Given the description of an element on the screen output the (x, y) to click on. 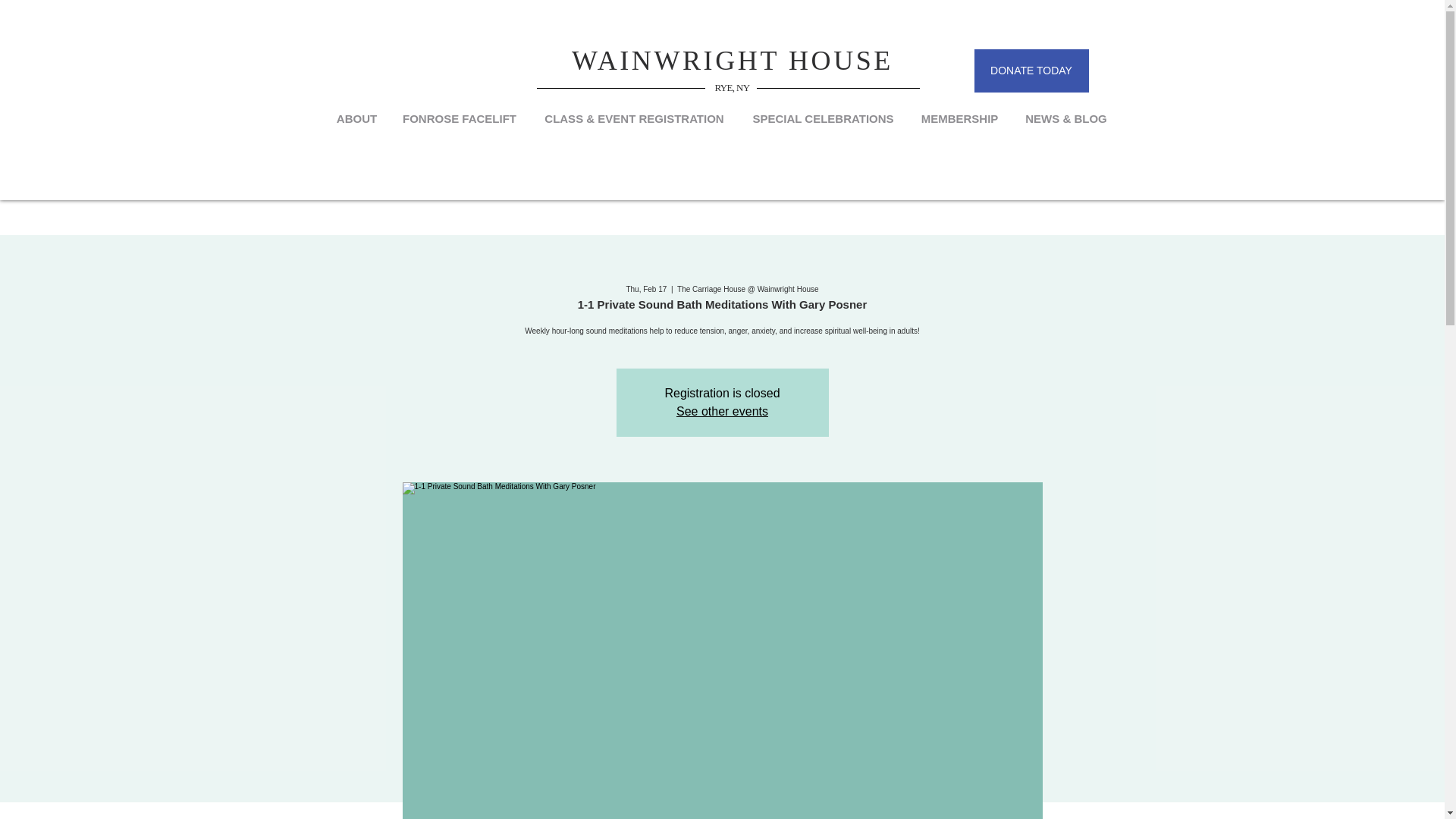
DONATE TODAY (1030, 70)
See other events (722, 410)
WAINWRIGHT HOUSE (732, 60)
RYE, NY (731, 87)
ABOUT (357, 118)
FONROSE FACELIFT (459, 118)
MEMBERSHIP (959, 118)
SPECIAL CELEBRATIONS (822, 118)
